Given the description of an element on the screen output the (x, y) to click on. 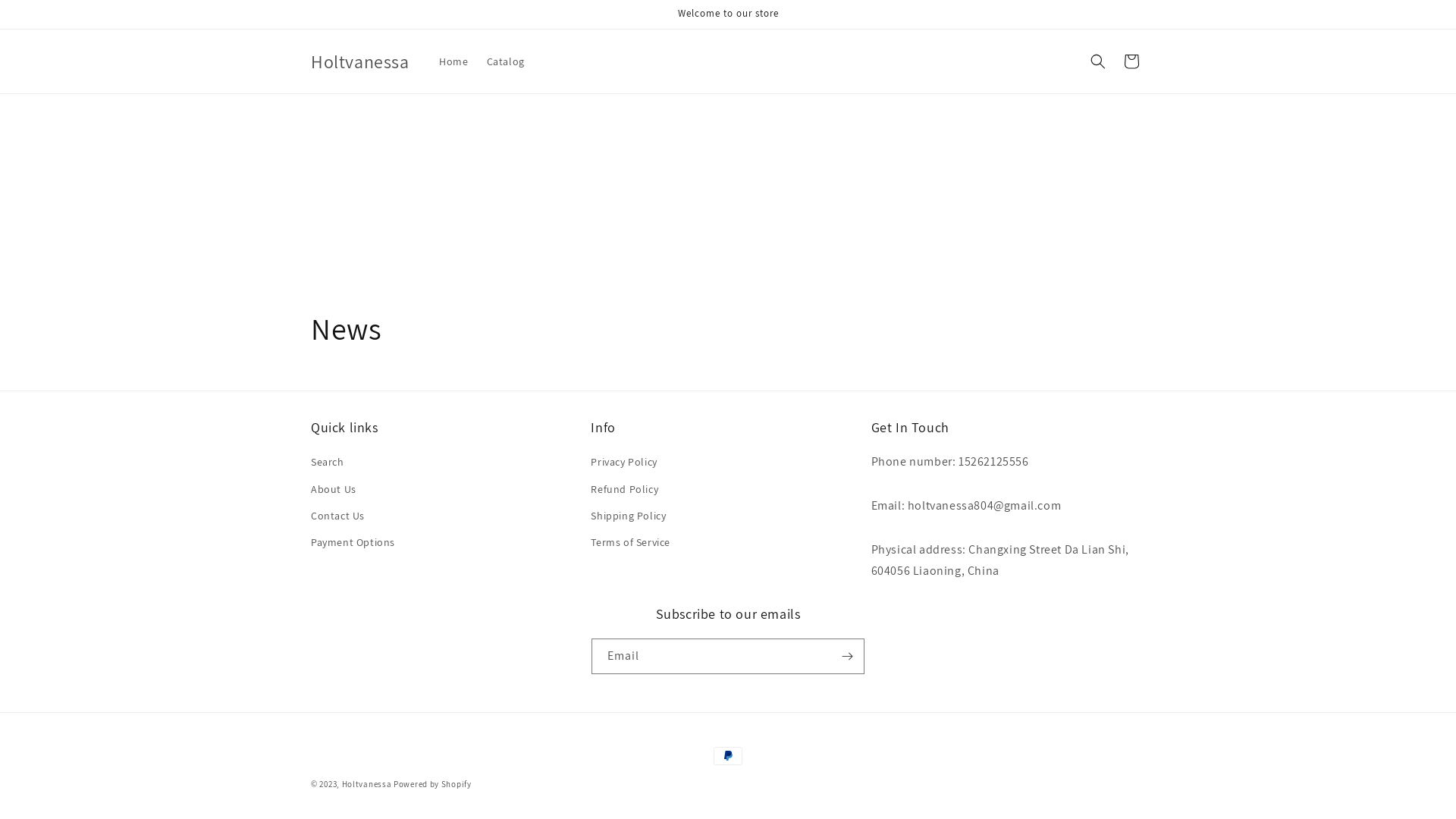
Holtvanessa Element type: text (367, 783)
Refund Policy Element type: text (624, 489)
Shipping Policy Element type: text (627, 515)
About Us Element type: text (333, 489)
Terms of Service Element type: text (630, 542)
Search Element type: text (327, 463)
Payment Options Element type: text (352, 542)
Holtvanessa Element type: text (359, 61)
Catalog Element type: text (505, 61)
Home Element type: text (452, 61)
Cart Element type: text (1131, 61)
Contact Us Element type: text (337, 515)
Privacy Policy Element type: text (623, 463)
Powered by Shopify Element type: text (432, 783)
